Given the description of an element on the screen output the (x, y) to click on. 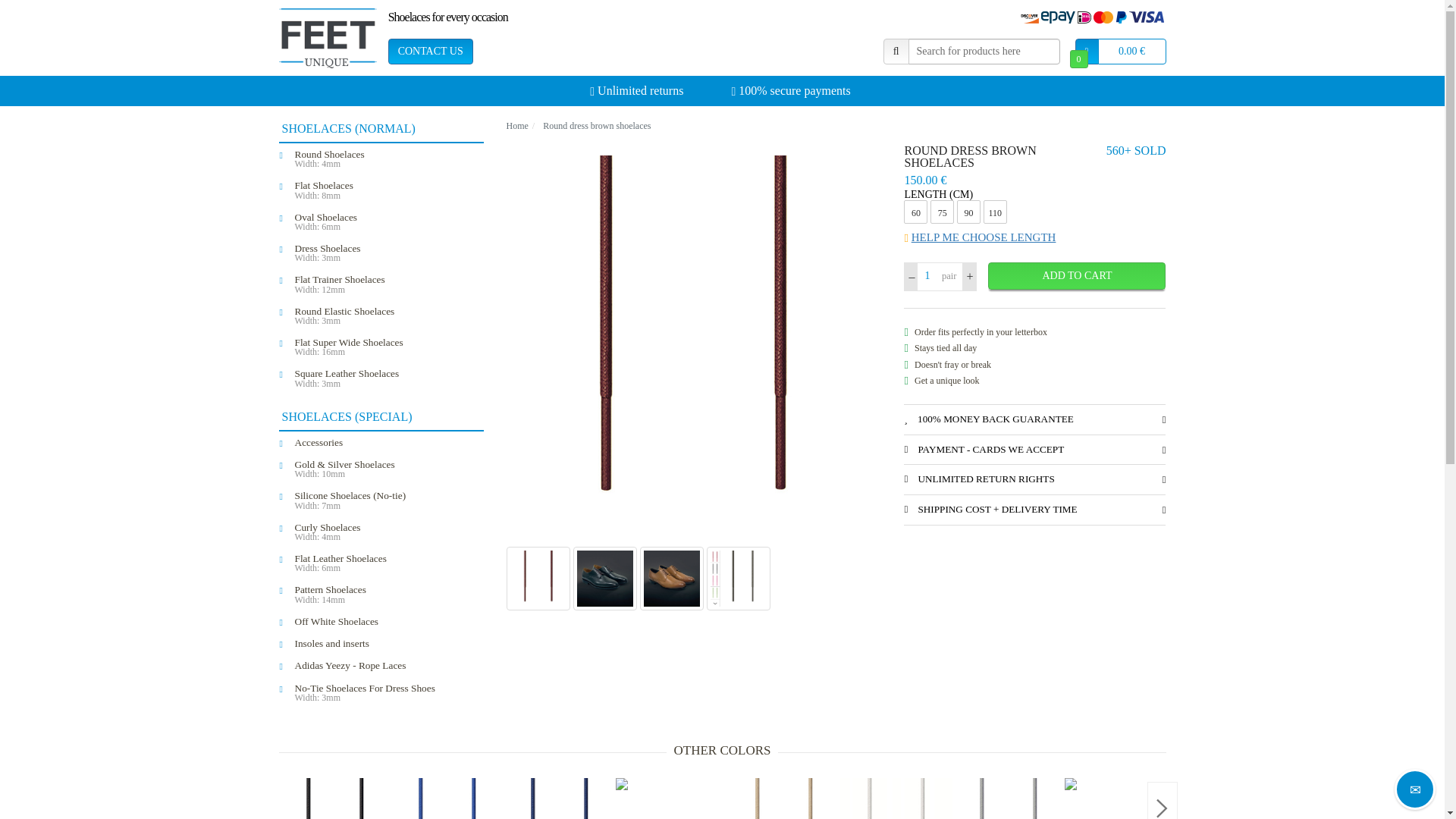
Adidas Yeezy - Rope Laces (387, 665)
Accessories (387, 442)
HELP ME CHOOSE LENGTH (387, 283)
round dress blue shoelaces (387, 346)
Feetunique EU (1035, 237)
Round dress brown shoelaces (387, 252)
Round dress brown shoelaces (387, 378)
round black dress shoelaces (387, 531)
